Given the description of an element on the screen output the (x, y) to click on. 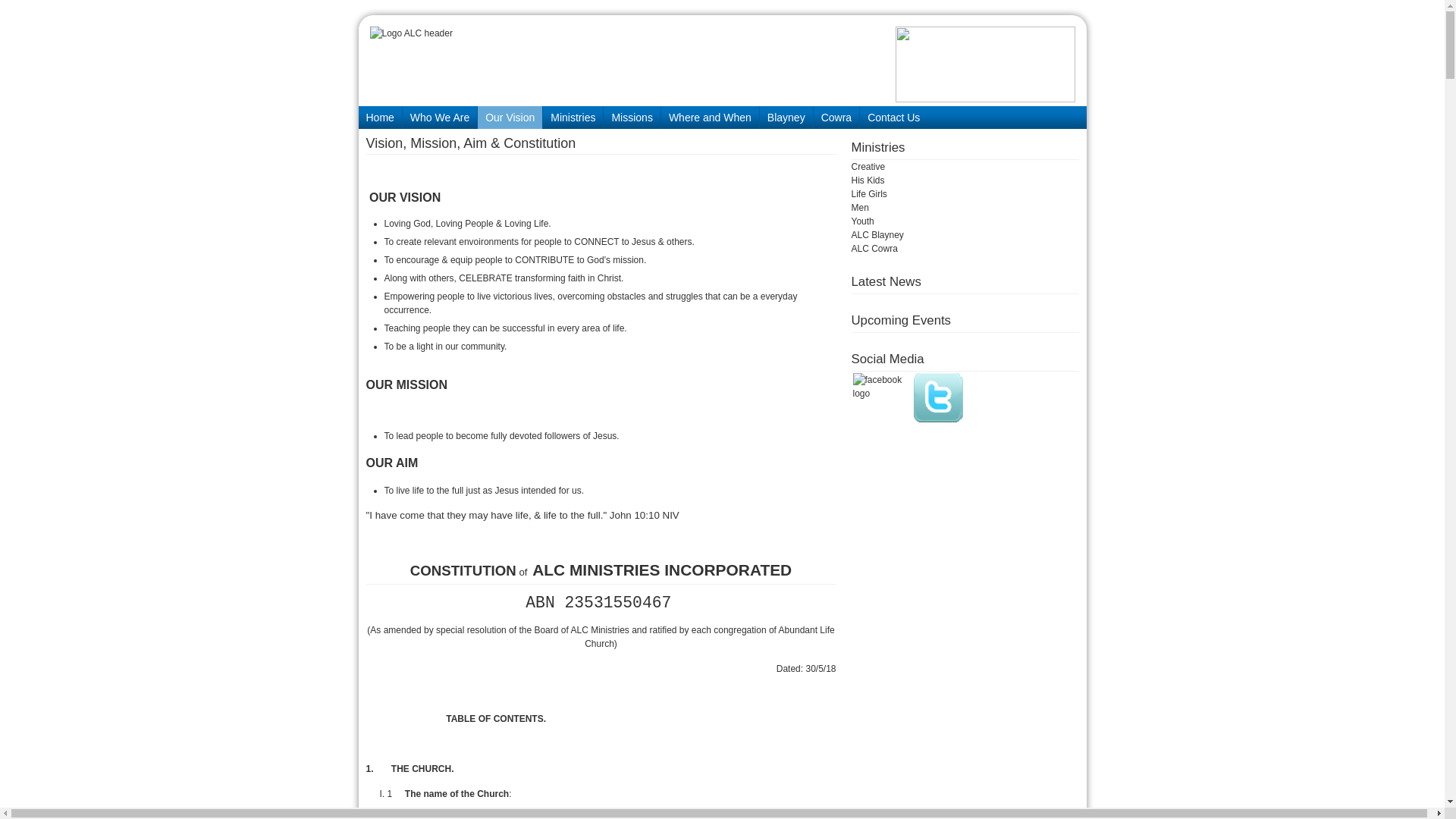
Who We Are Element type: text (439, 117)
CONSTITUTION Element type: text (463, 570)
  Element type: text (366, 743)
Creative Element type: text (867, 166)
Men Element type: text (859, 207)
Our Vision Element type: text (509, 117)
Home Element type: text (379, 117)
Ministries Element type: text (572, 117)
  Element type: text (437, 718)
1     The name of the Church: Element type: text (448, 793)
  Element type: text (455, 768)
  Element type: text (678, 604)
ABN 23531550467 Element type: text (598, 602)
Contact Us Element type: text (893, 117)
  Element type: text (522, 604)
  Element type: text (439, 718)
Life Girls Element type: text (868, 193)
1.       THE CHURCH. Element type: text (409, 768)
His Kids Element type: text (867, 180)
ALC Cowra Element type: text (873, 248)
ALC MINISTRIES INCORPORATED Element type: text (661, 569)
ALC Blayney Element type: text (876, 234)
Dated: 30/5/18 Element type: text (806, 668)
Blayney Element type: text (785, 117)
Where and When Element type: text (710, 117)
Cowra Element type: text (836, 117)
Missions Element type: text (631, 117)
Youth Element type: text (861, 221)
